Given the description of an element on the screen output the (x, y) to click on. 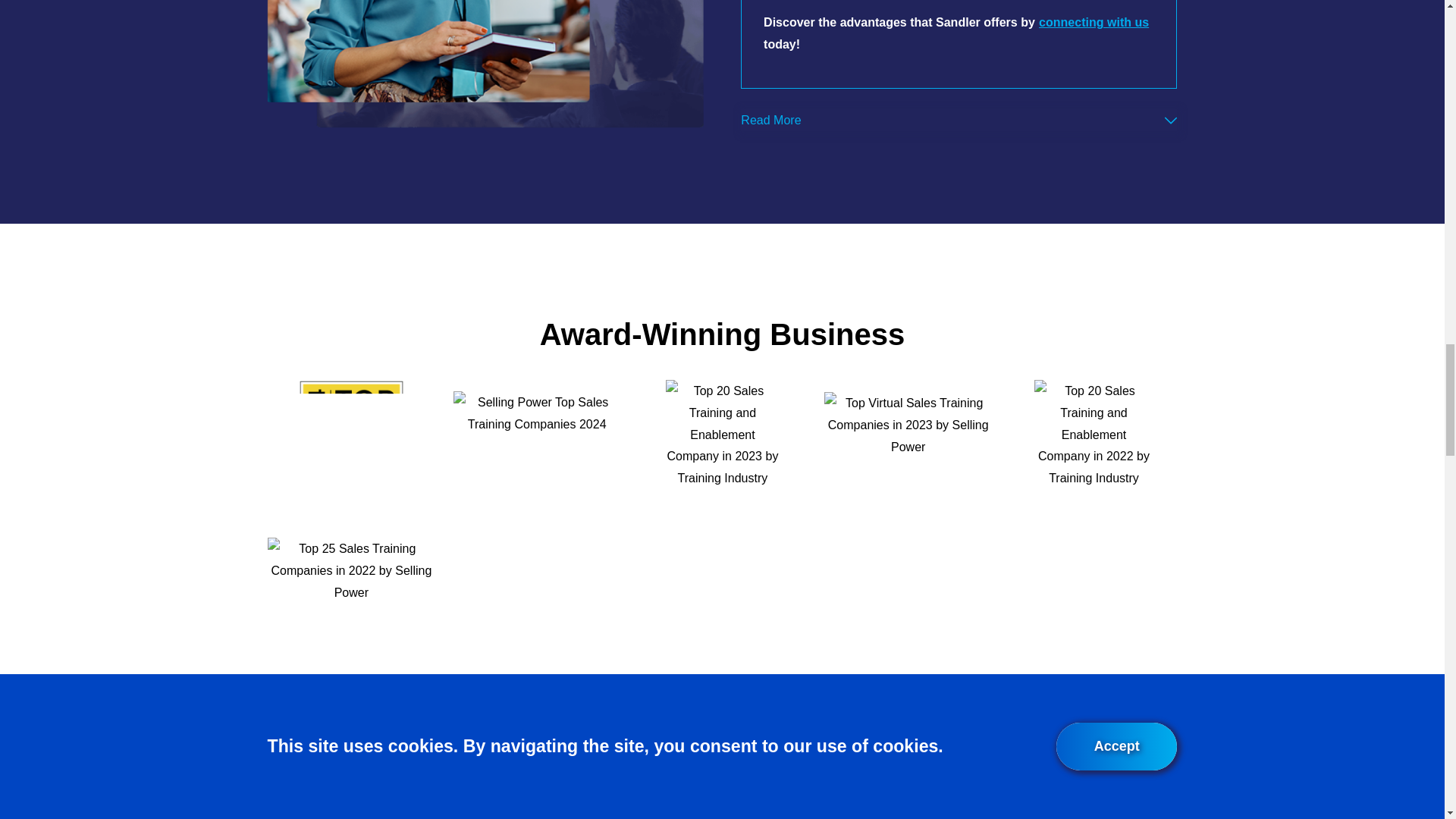
More (1170, 120)
Top 25 Sales Training Companies in 2022 by Selling Power (351, 594)
Selling Power Top Sales Training Companies 2024 (536, 448)
